Given the description of an element on the screen output the (x, y) to click on. 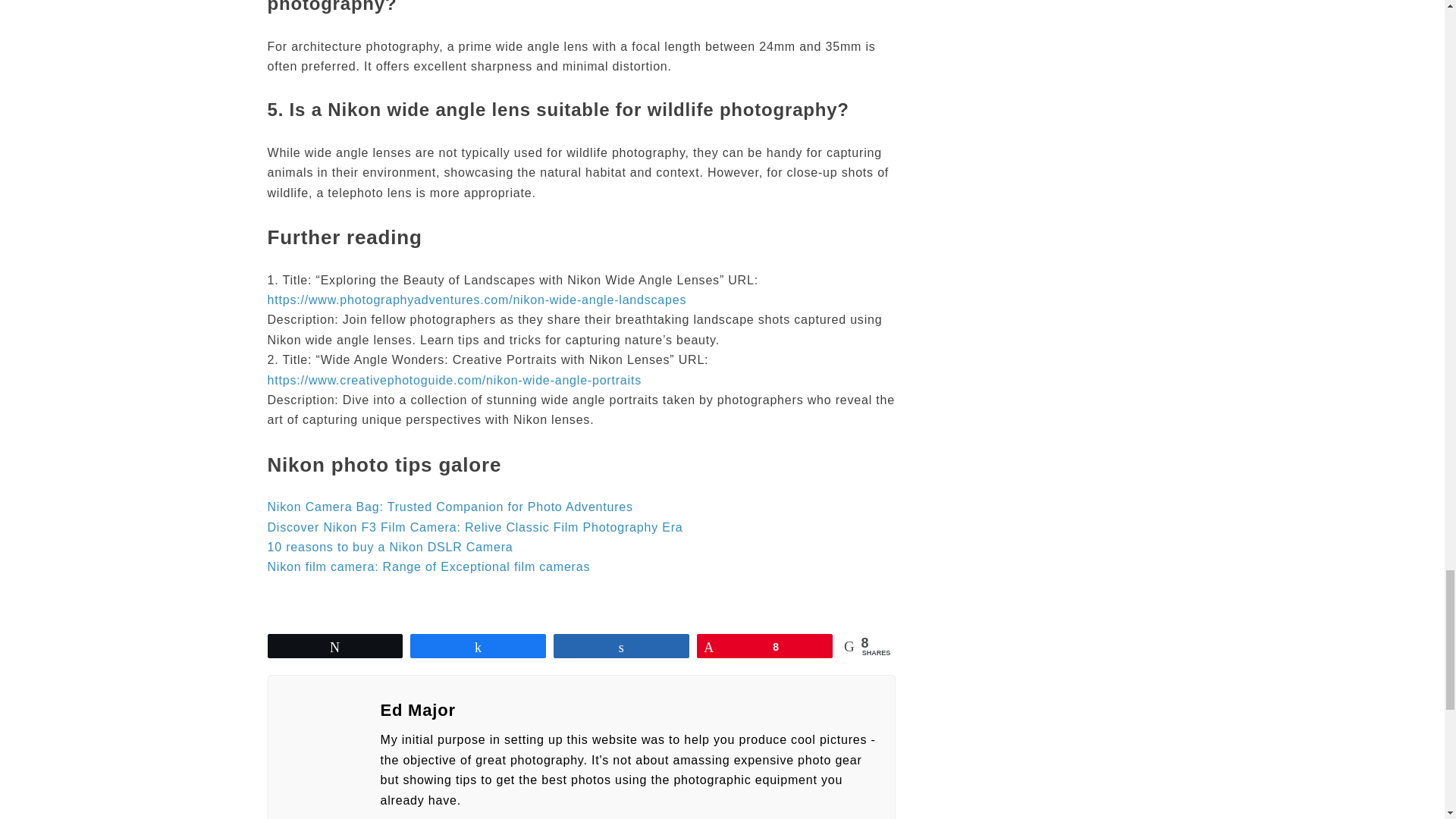
Nikon Camera Bag: Trusted Companion for Photo Adventures (448, 506)
8 (764, 645)
Nikon film camera: Range of Exceptional film cameras (427, 566)
Ed Major (628, 709)
10 reasons to buy a Nikon DSLR Camera (389, 546)
